Given the description of an element on the screen output the (x, y) to click on. 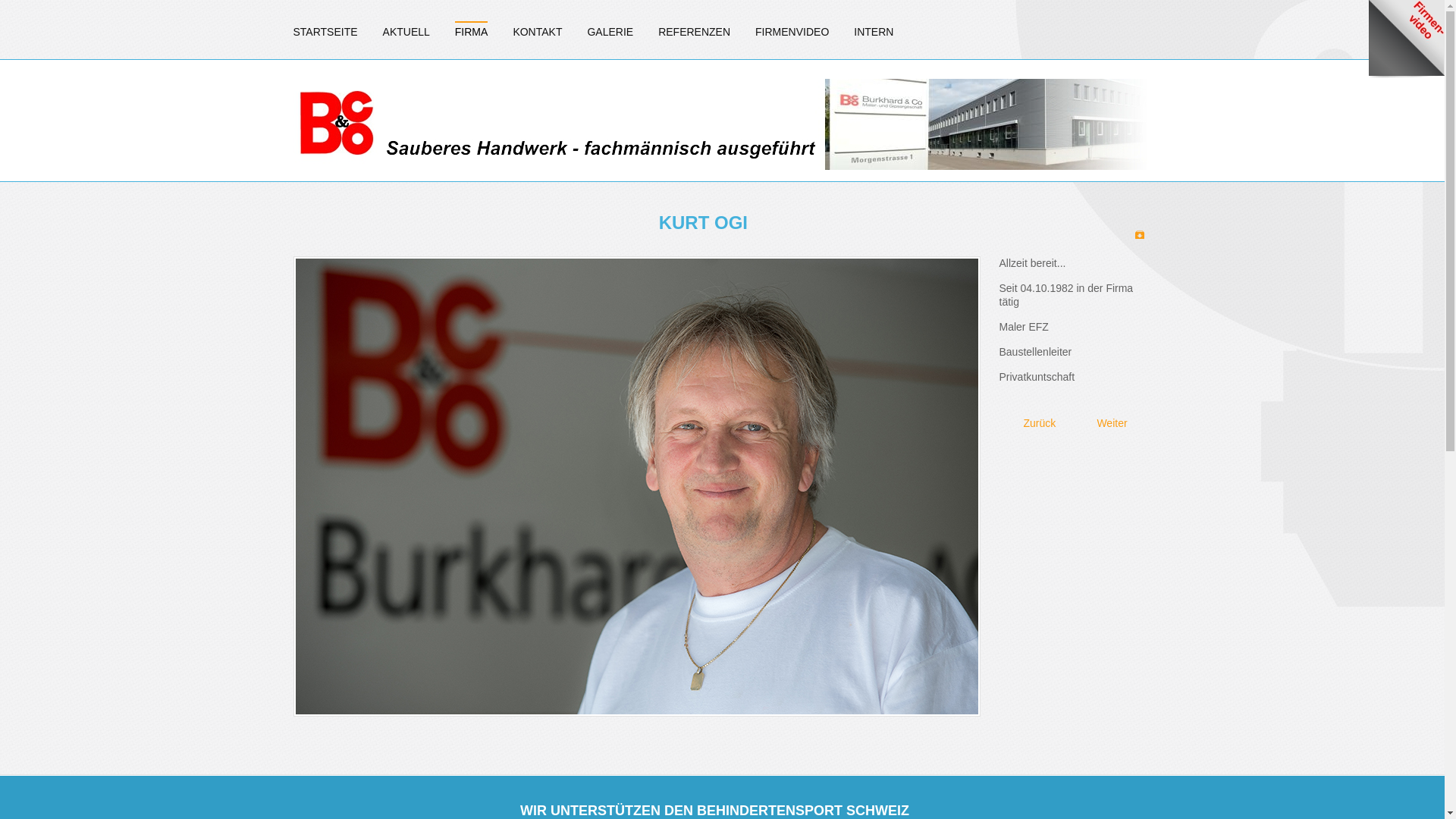
AKTUELL Element type: text (405, 31)
KONTAKT Element type: text (536, 31)
STARTSEITE Element type: text (324, 31)
Weiter Element type: text (1118, 423)
INTERN Element type: text (873, 31)
REFERENZEN Element type: text (694, 31)
FIRMA Element type: text (471, 31)
FIRMENVIDEO Element type: text (791, 31)
GALERIE Element type: text (609, 31)
